Given the description of an element on the screen output the (x, y) to click on. 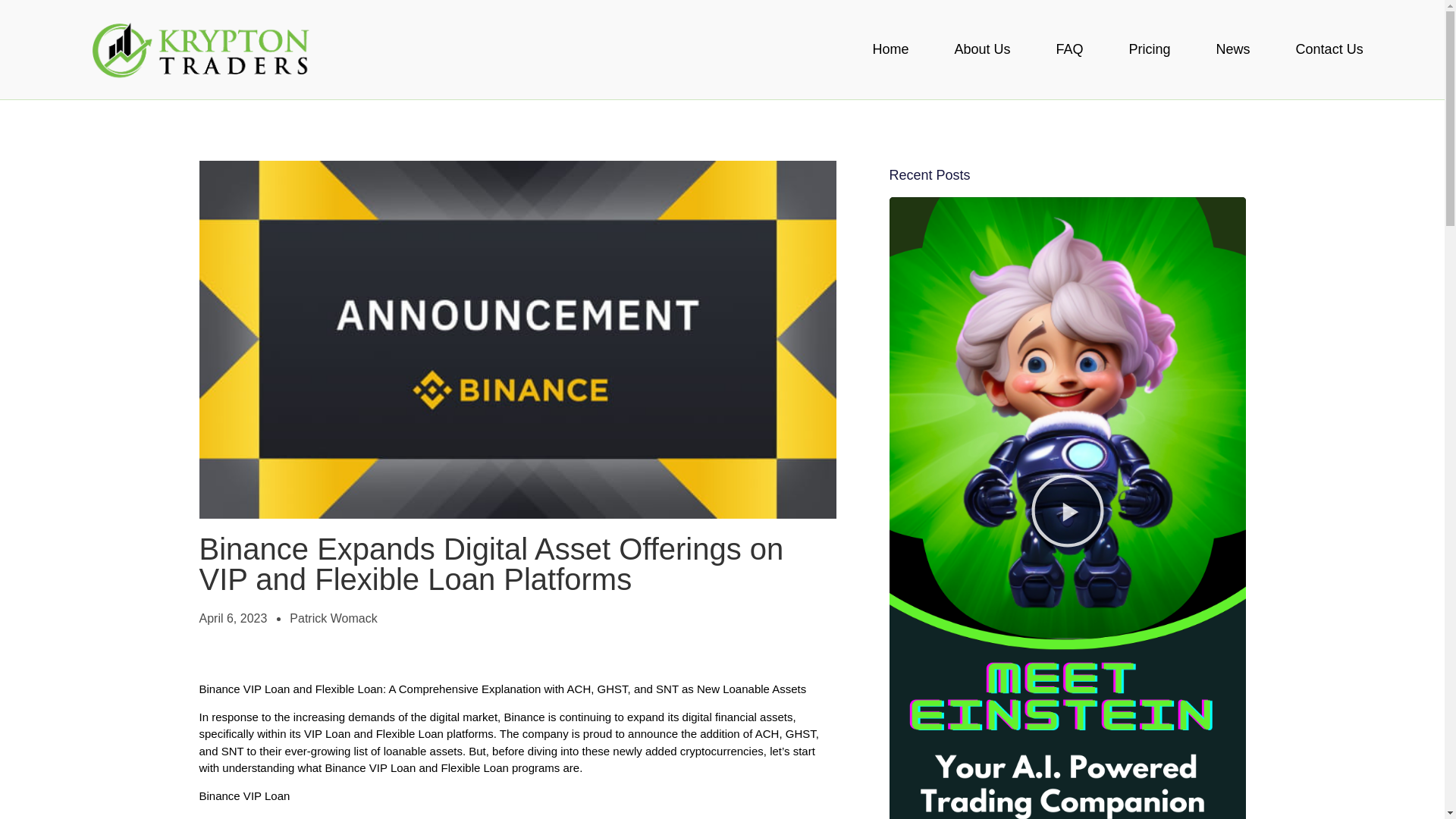
About Us (981, 48)
FAQ (1069, 48)
Home (889, 48)
News (1232, 48)
Pricing (1149, 48)
April 6, 2023 (232, 618)
Patrick Womack (333, 618)
Contact Us (1329, 48)
